Given the description of an element on the screen output the (x, y) to click on. 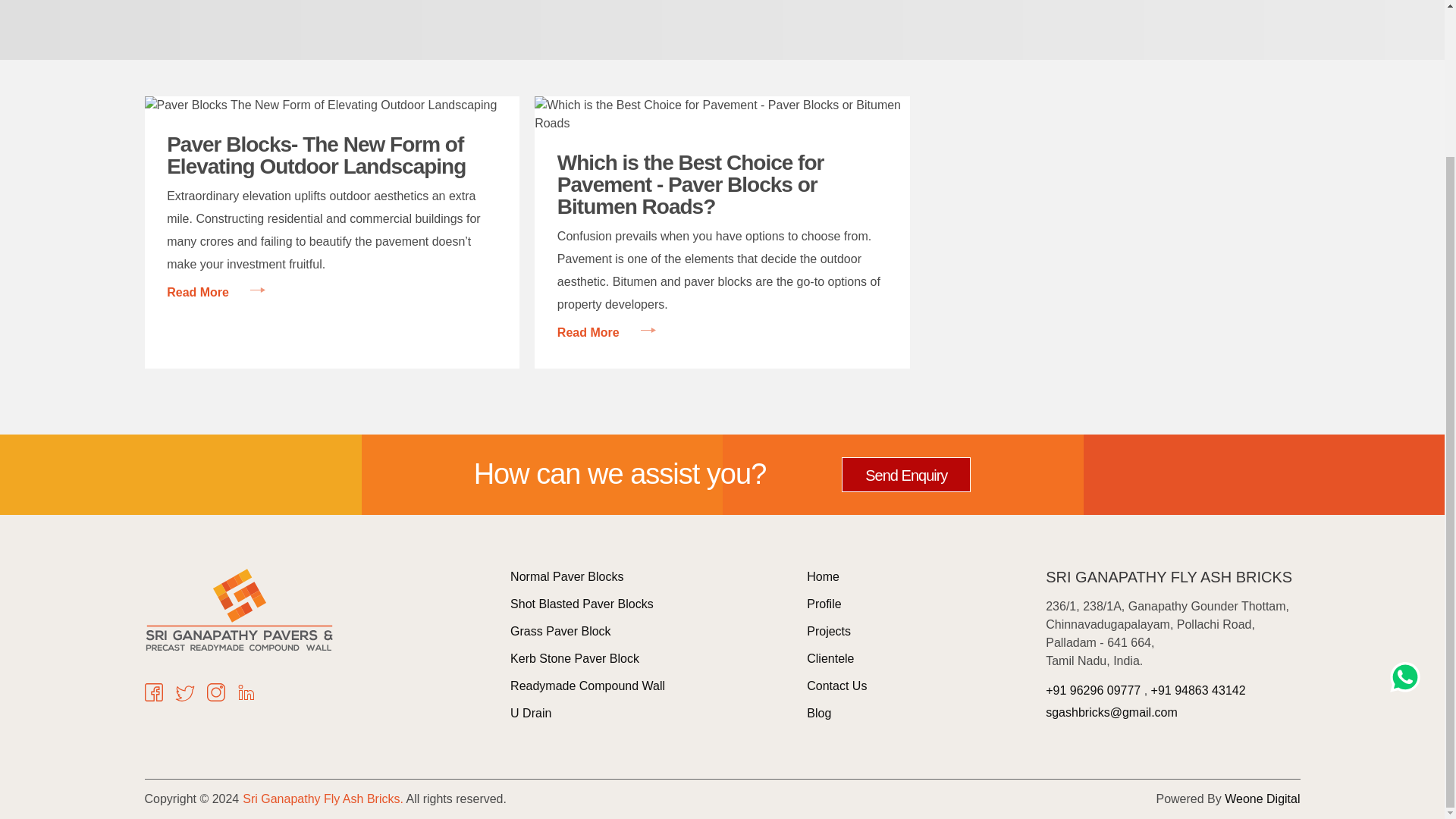
Read More (606, 332)
Normal Paver Blocks (567, 576)
Read More (215, 292)
Send Enquiry (906, 474)
Paver Blocks- The New Form of Elevating Outdoor Landscaping (331, 155)
